Given the description of an element on the screen output the (x, y) to click on. 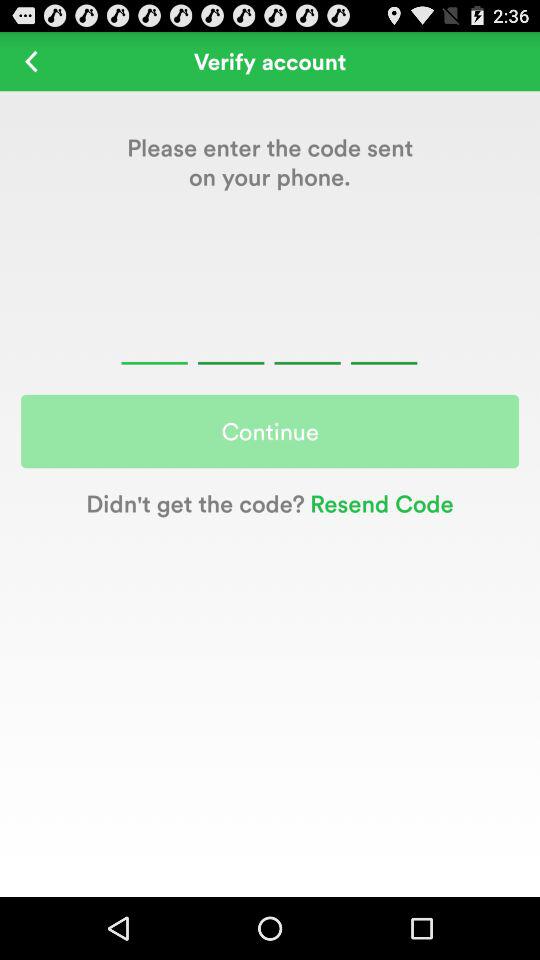
jump until the continue icon (270, 431)
